Given the description of an element on the screen output the (x, y) to click on. 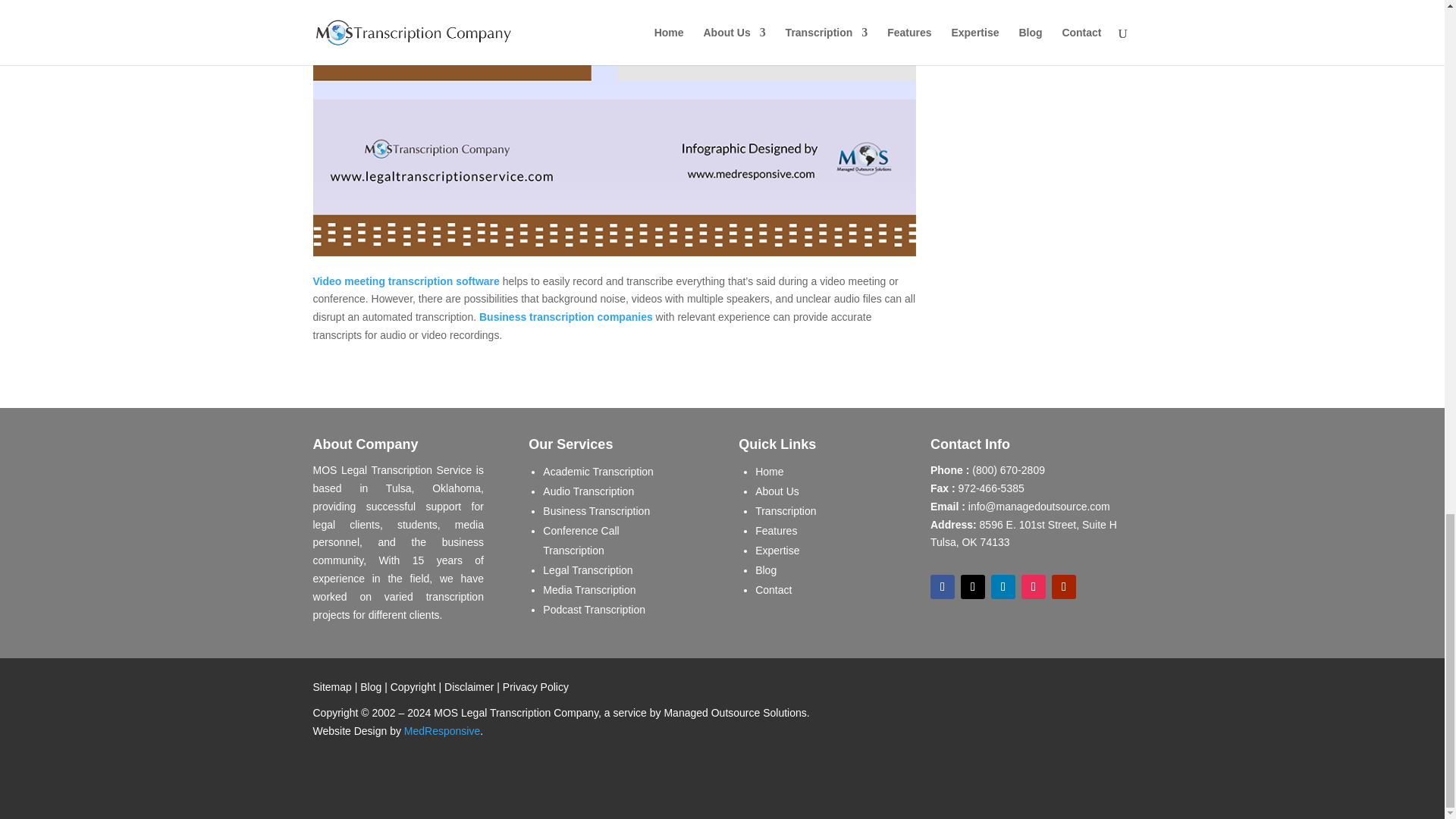
Audio Transcription (588, 491)
Conference Call Transcription (580, 540)
Academic Transcription (598, 471)
Business Transcription Companies (565, 316)
Business Transcription (596, 510)
Video Meeting Transcription Software (406, 281)
